Given the description of an element on the screen output the (x, y) to click on. 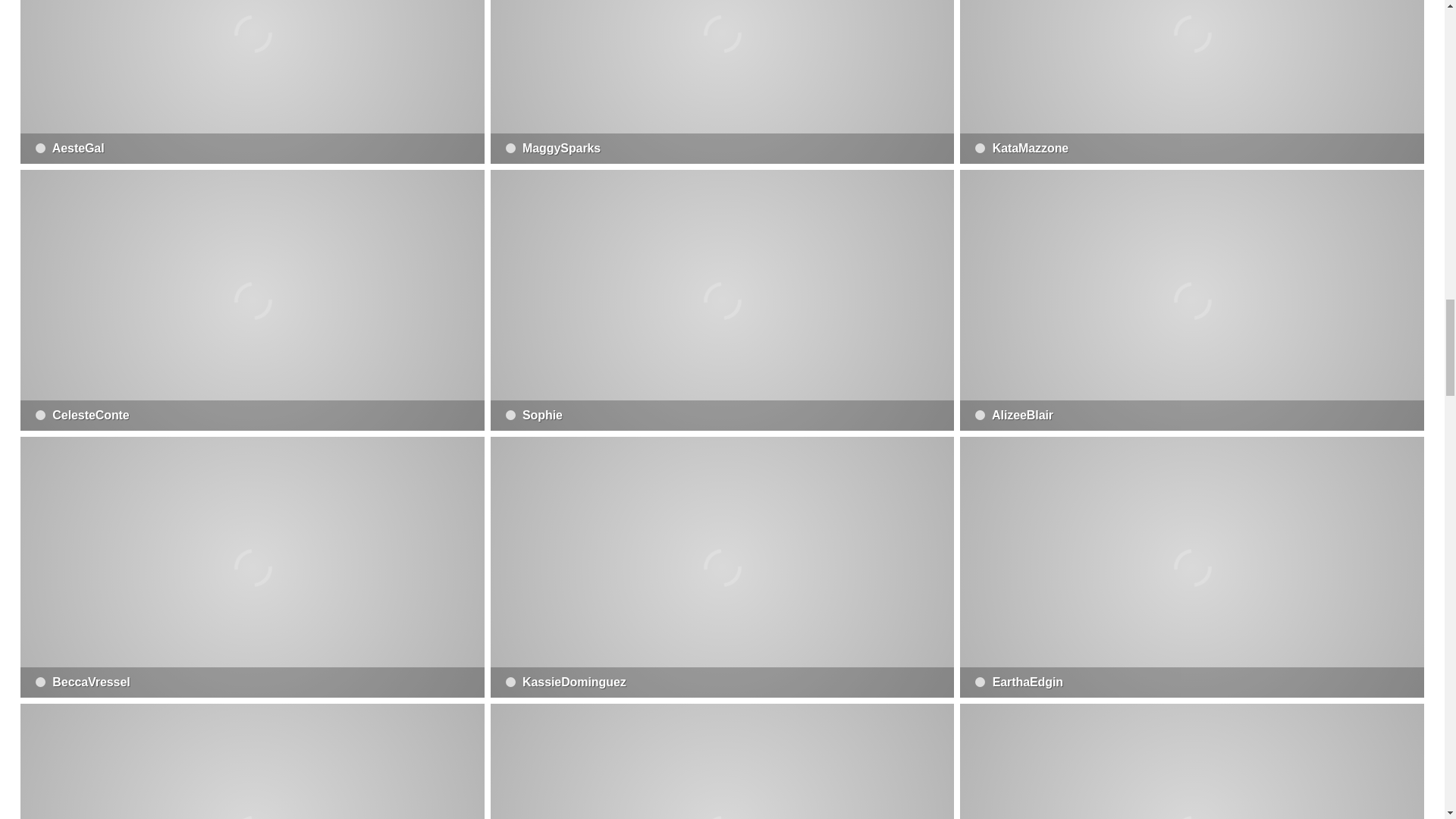
CelesteConte (252, 299)
KassieDominguez (722, 566)
HalseyBerry (722, 761)
KataMazzone (1191, 81)
BeccaVressel (252, 566)
AmyGriffin (252, 761)
AesteGal (252, 81)
Sophie (722, 299)
ValerieMonet (1191, 761)
EarthaEdgin (1191, 566)
AlizeeBlair (1191, 299)
MaggySparks (722, 81)
